Given the description of an element on the screen output the (x, y) to click on. 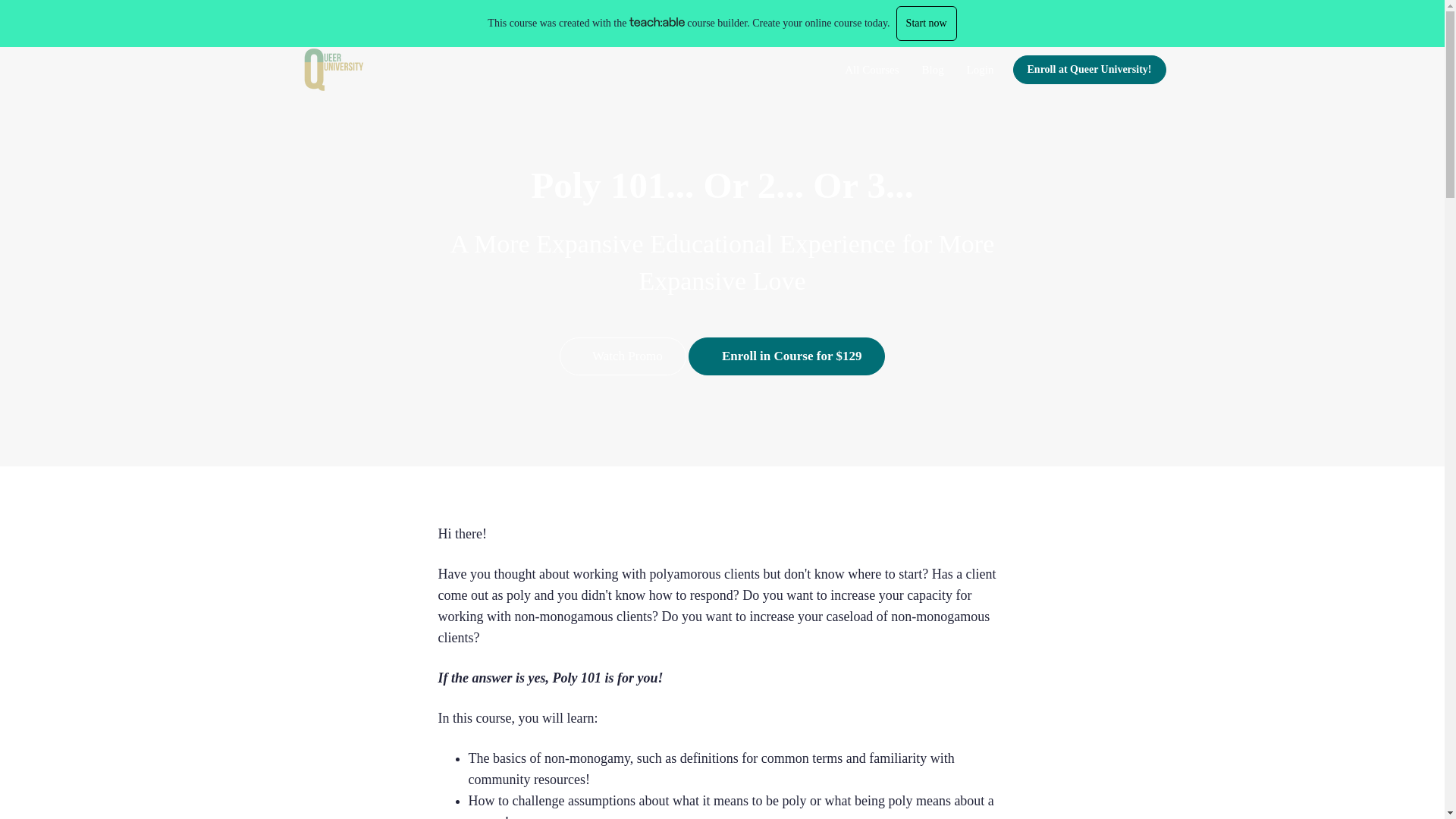
Enroll at Queer University! (1089, 69)
   Watch Promo (622, 356)
Blog (932, 69)
teachable.com (656, 21)
All Courses (871, 69)
Login (980, 69)
Start now (926, 22)
